Given the description of an element on the screen output the (x, y) to click on. 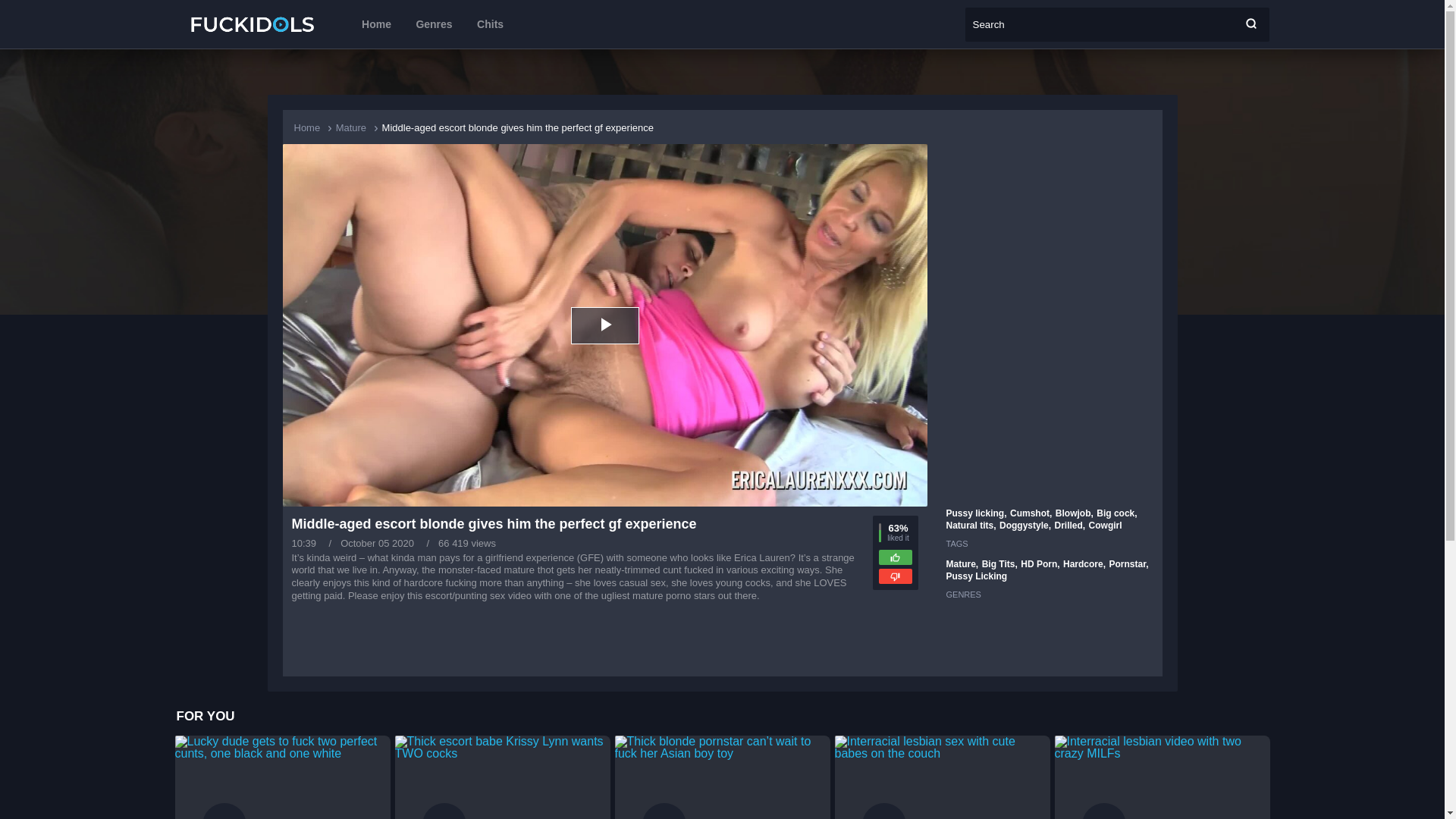
Genres (432, 24)
Pussy Licking (976, 575)
Cumshot (1030, 512)
Home (307, 127)
Pussy licking (976, 512)
Play Video (604, 325)
Mature (351, 127)
Chits (490, 24)
Doggystyle (1024, 524)
Blowjob (1074, 512)
Big cock (1116, 512)
Pornstar (1128, 563)
HD Porn (1039, 563)
Mature (962, 563)
Cowgirl (1105, 524)
